Given the description of an element on the screen output the (x, y) to click on. 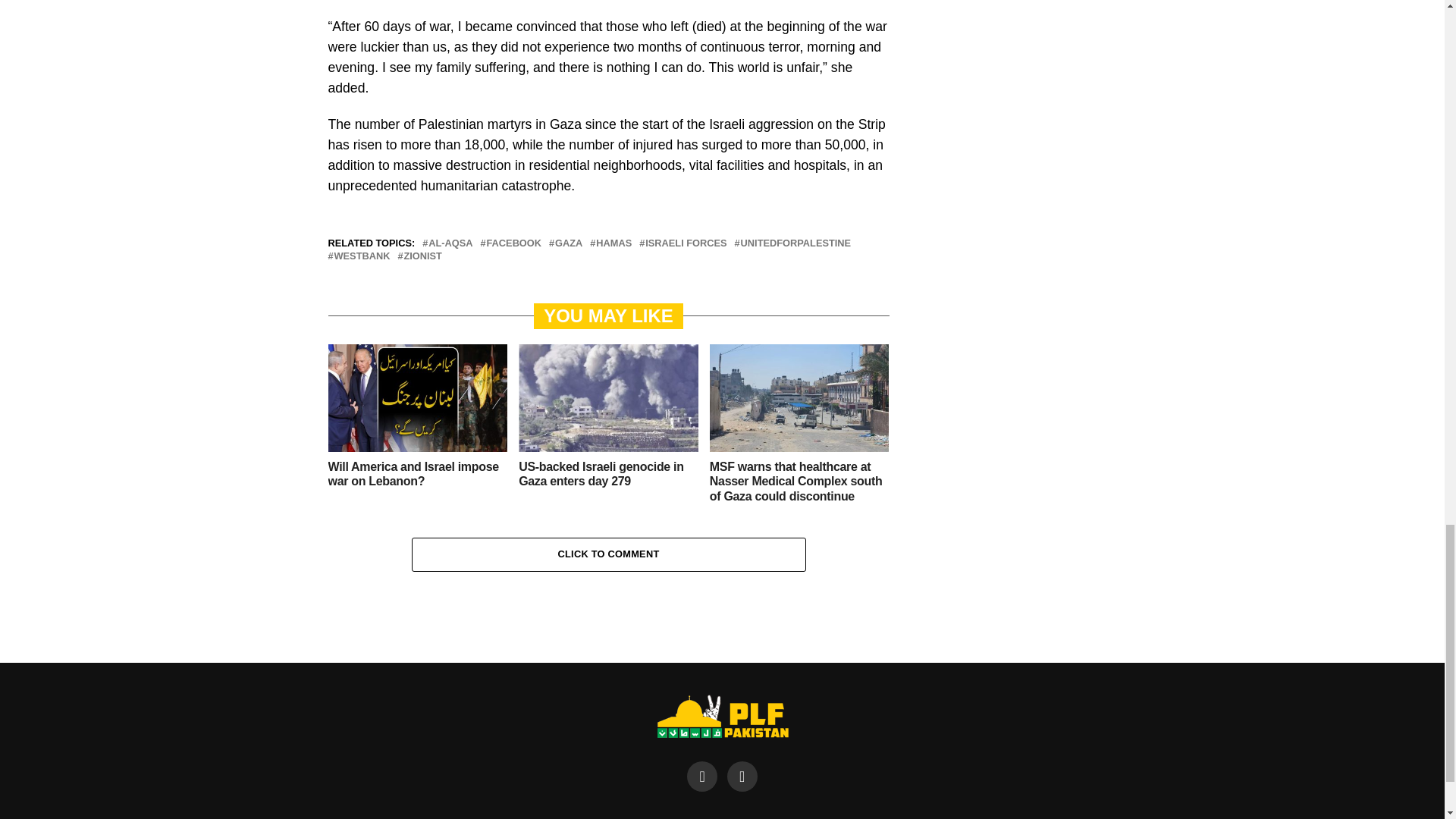
AL-AQSA (449, 243)
FACEBOOK (513, 243)
